Given the description of an element on the screen output the (x, y) to click on. 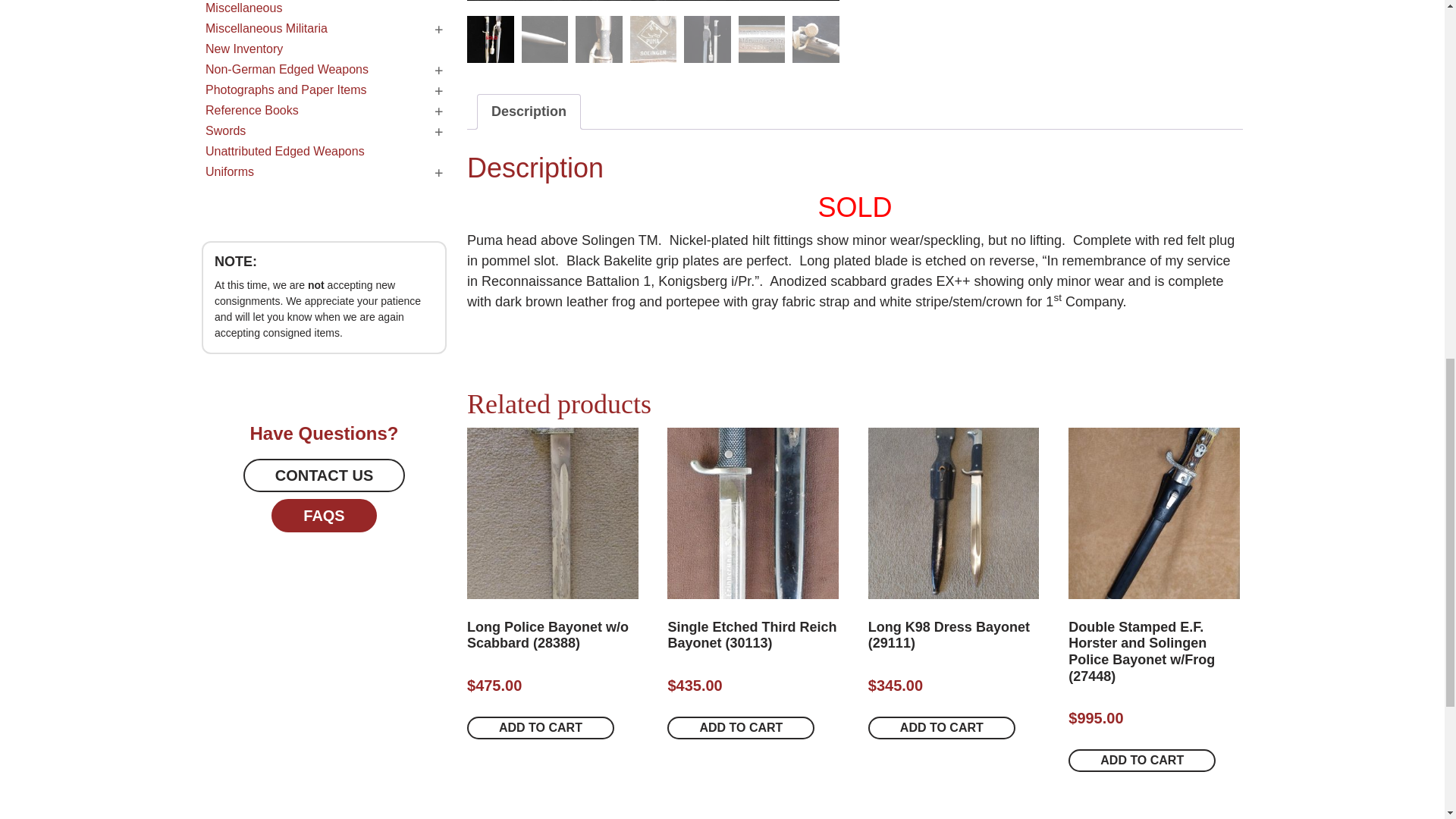
Description (529, 111)
ADD TO CART (540, 727)
